Given the description of an element on the screen output the (x, y) to click on. 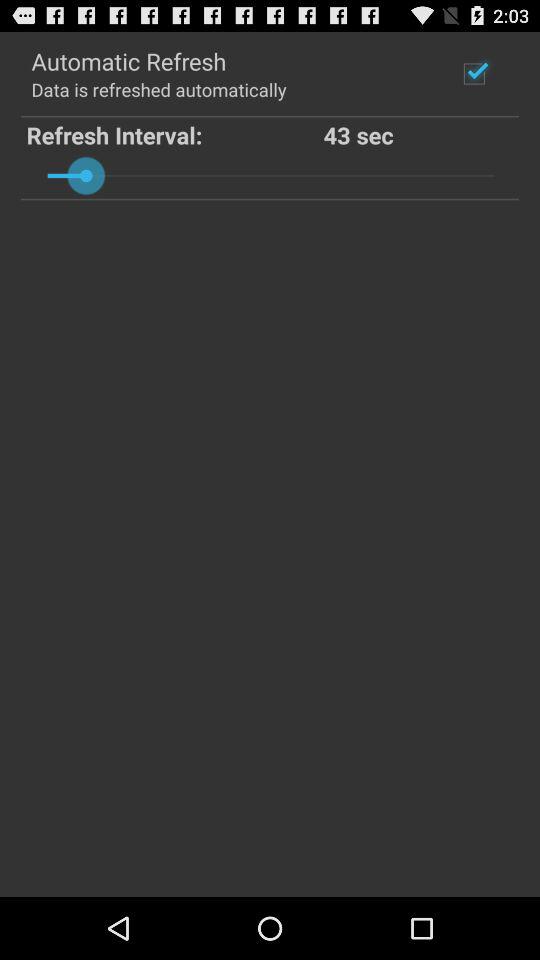
turn on the item to the right of the refresh interval: icon (419, 134)
